Given the description of an element on the screen output the (x, y) to click on. 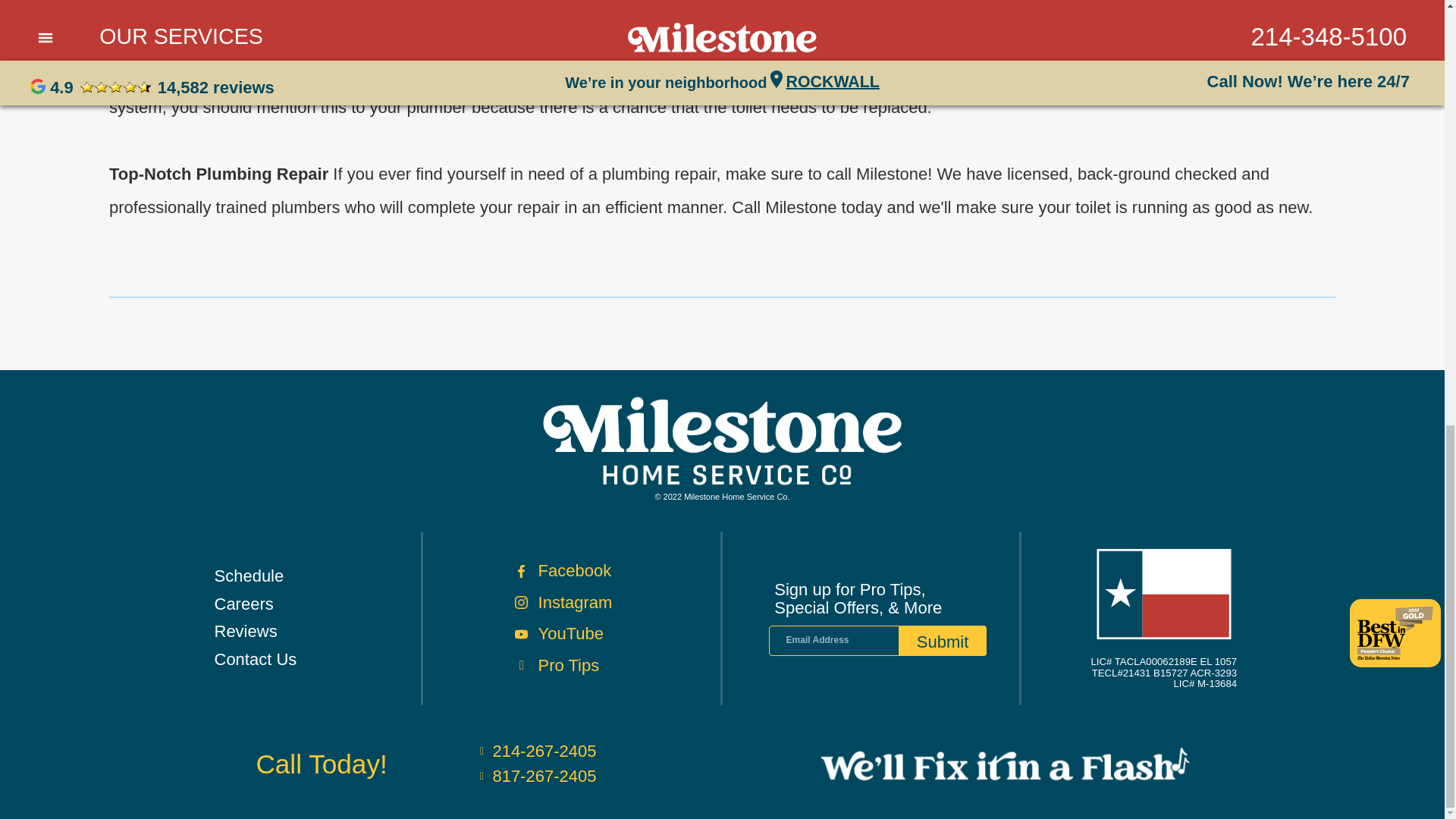
817-267-2405 (535, 775)
Facebook (614, 571)
Instagram (614, 603)
Submit (942, 640)
Schedule (309, 576)
Contact Us (309, 660)
Reviews (309, 632)
Pro Tips (614, 665)
Careers (309, 604)
214-267-2405 (535, 750)
YouTube (614, 634)
